Given the description of an element on the screen output the (x, y) to click on. 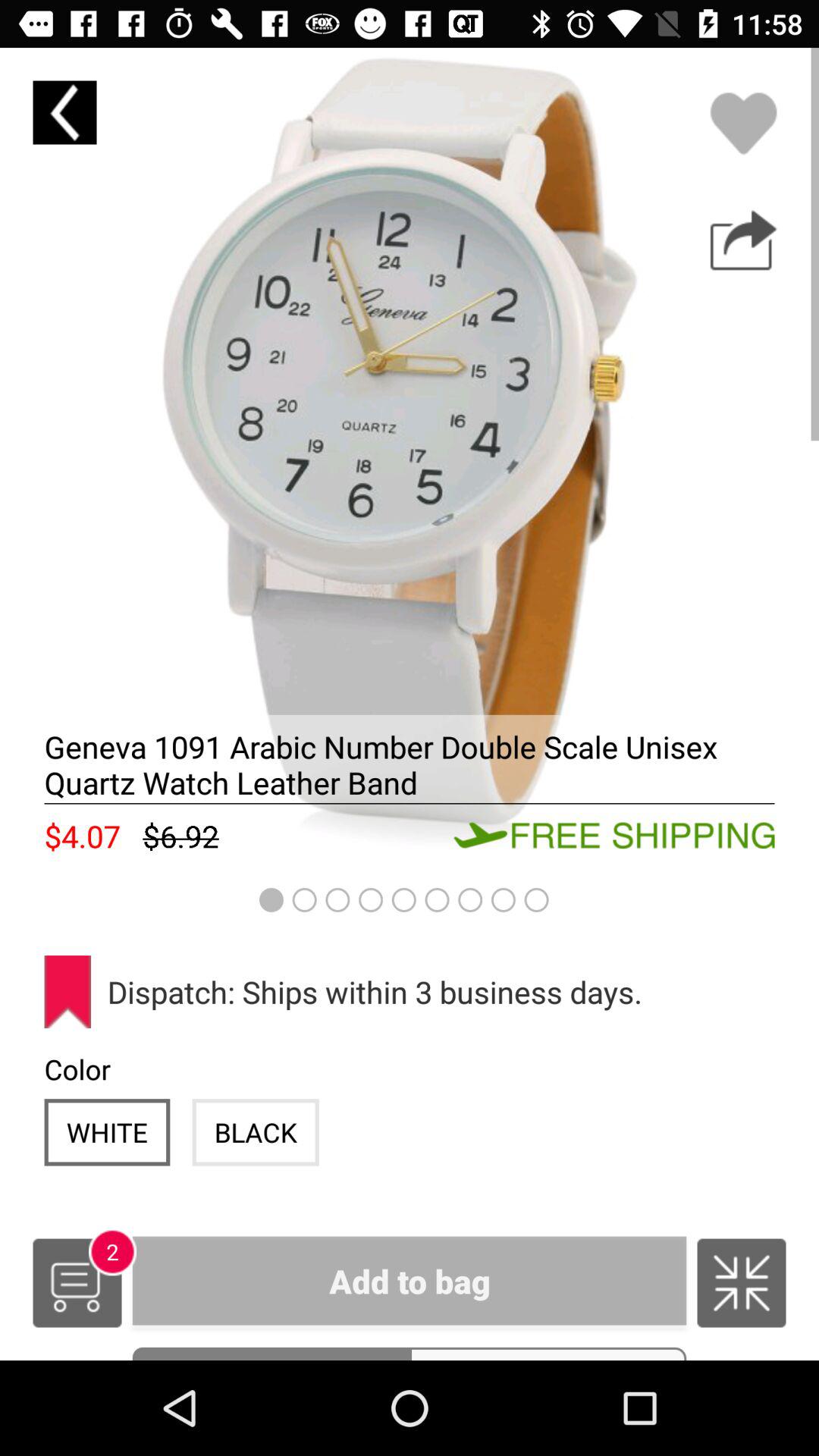
open the item below add to bag icon (270, 1353)
